Given the description of an element on the screen output the (x, y) to click on. 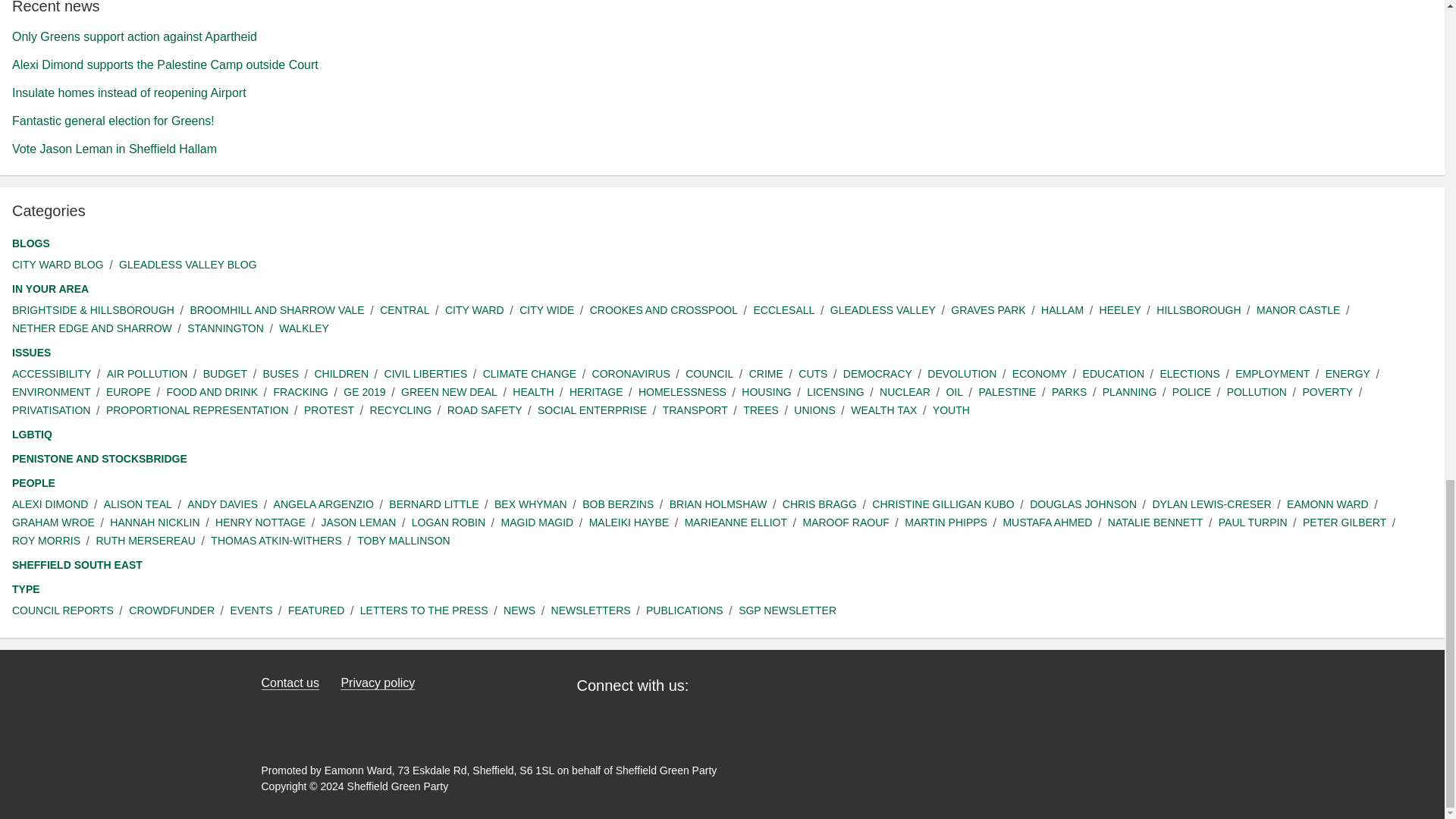
Alexi Dimond supports the Palestine Camp outside Court (164, 64)
Fantastic general election for Greens! (112, 120)
CENTRAL (404, 310)
Only Greens support action against Apartheid (134, 36)
CITY WARD BLOG (57, 264)
BROOMHILL AND SHARROW VALE (276, 310)
IN YOUR AREA (49, 289)
CROOKES AND CROSSPOOL (663, 310)
Insulate homes instead of reopening Airport (128, 92)
BLOGS (30, 243)
Vote Jason Leman in Sheffield Hallam (113, 148)
CITY WARD (474, 310)
GLEADLESS VALLEY BLOG (188, 264)
CITY WIDE (546, 310)
